Given the description of an element on the screen output the (x, y) to click on. 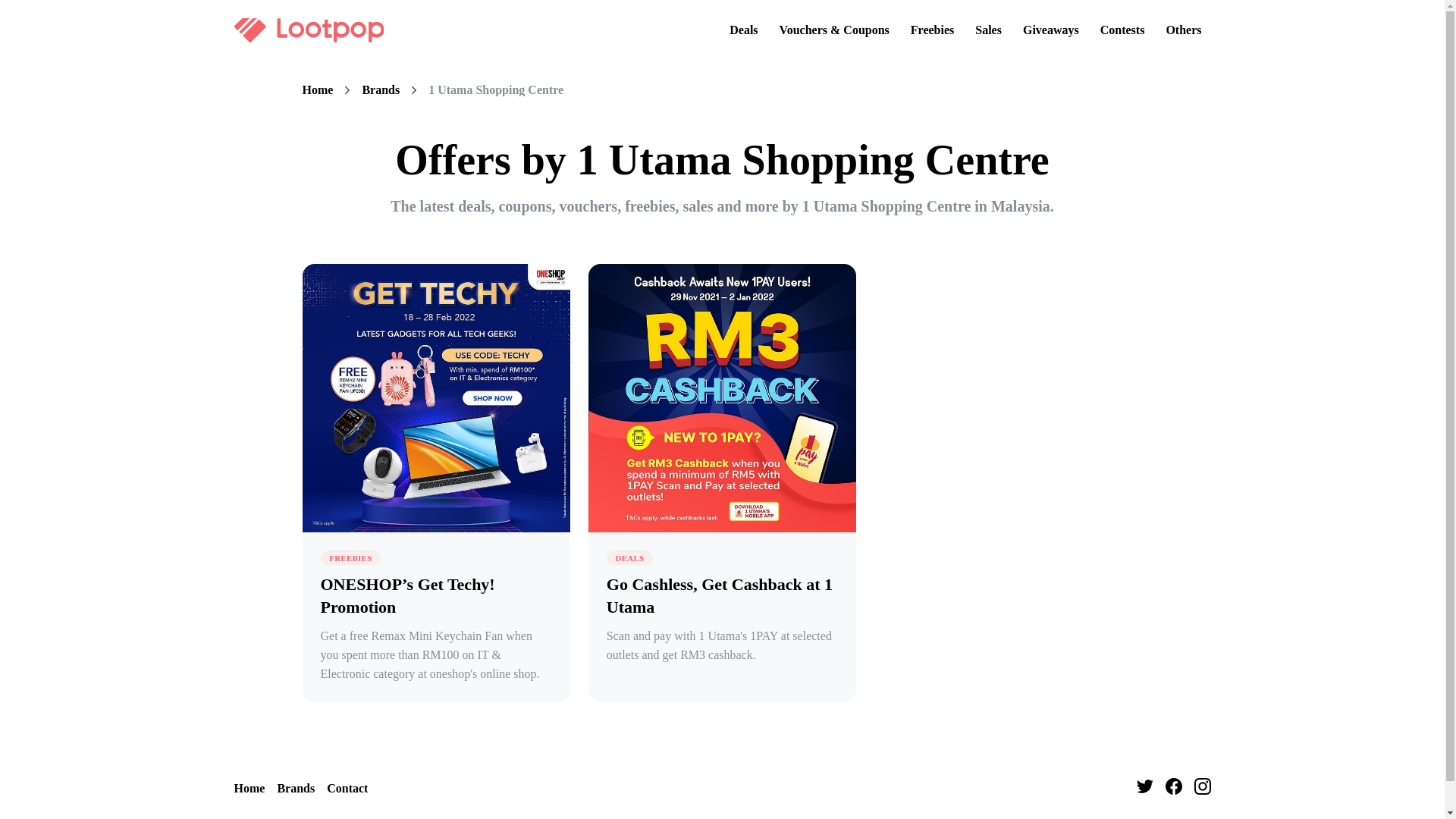
Brands (295, 788)
Freebies (931, 30)
Brands (379, 90)
Giveaways (1050, 30)
Contact (347, 788)
Home (248, 788)
Sales (988, 30)
Deals (743, 30)
Others (1182, 30)
Contests (1122, 30)
Home (317, 90)
